Given the description of an element on the screen output the (x, y) to click on. 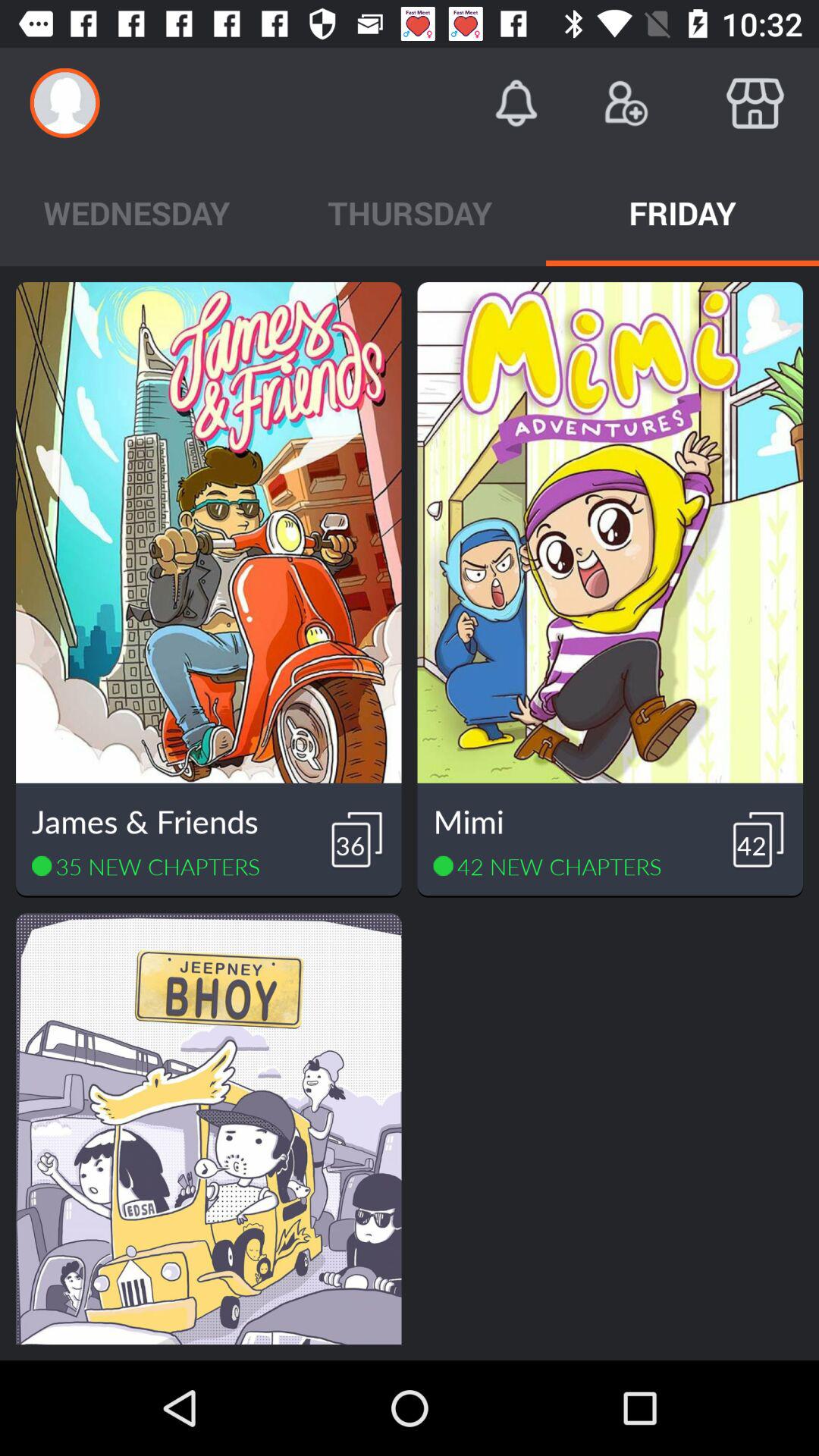
launch the item to the left of thursday  icon (136, 212)
